Given the description of an element on the screen output the (x, y) to click on. 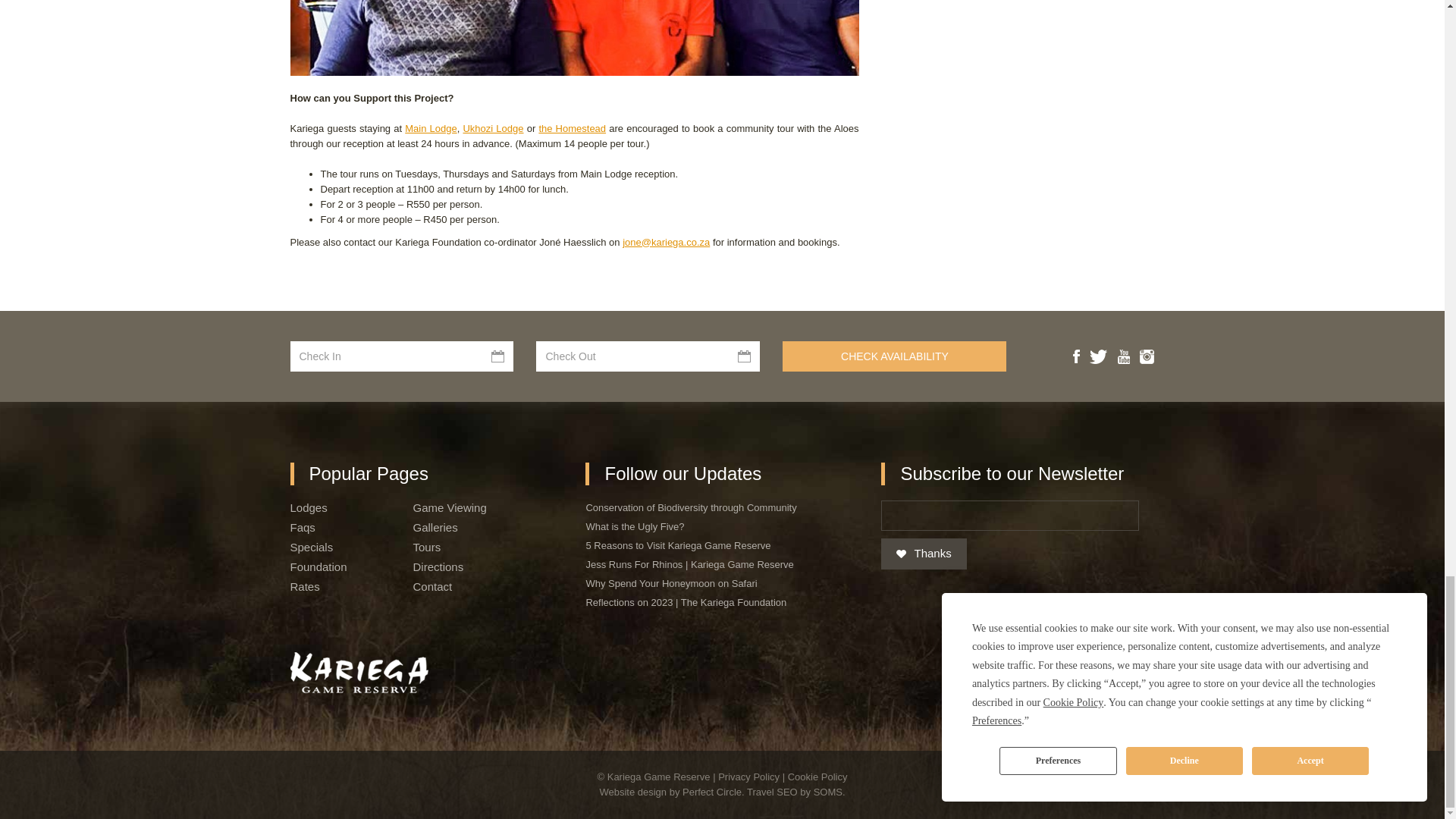
Main Lodge (430, 128)
Ukhozi Lodge (492, 128)
Check Availability (894, 356)
Kariega Foundation - The Aloes (574, 37)
The Homestead (571, 128)
